Given the description of an element on the screen output the (x, y) to click on. 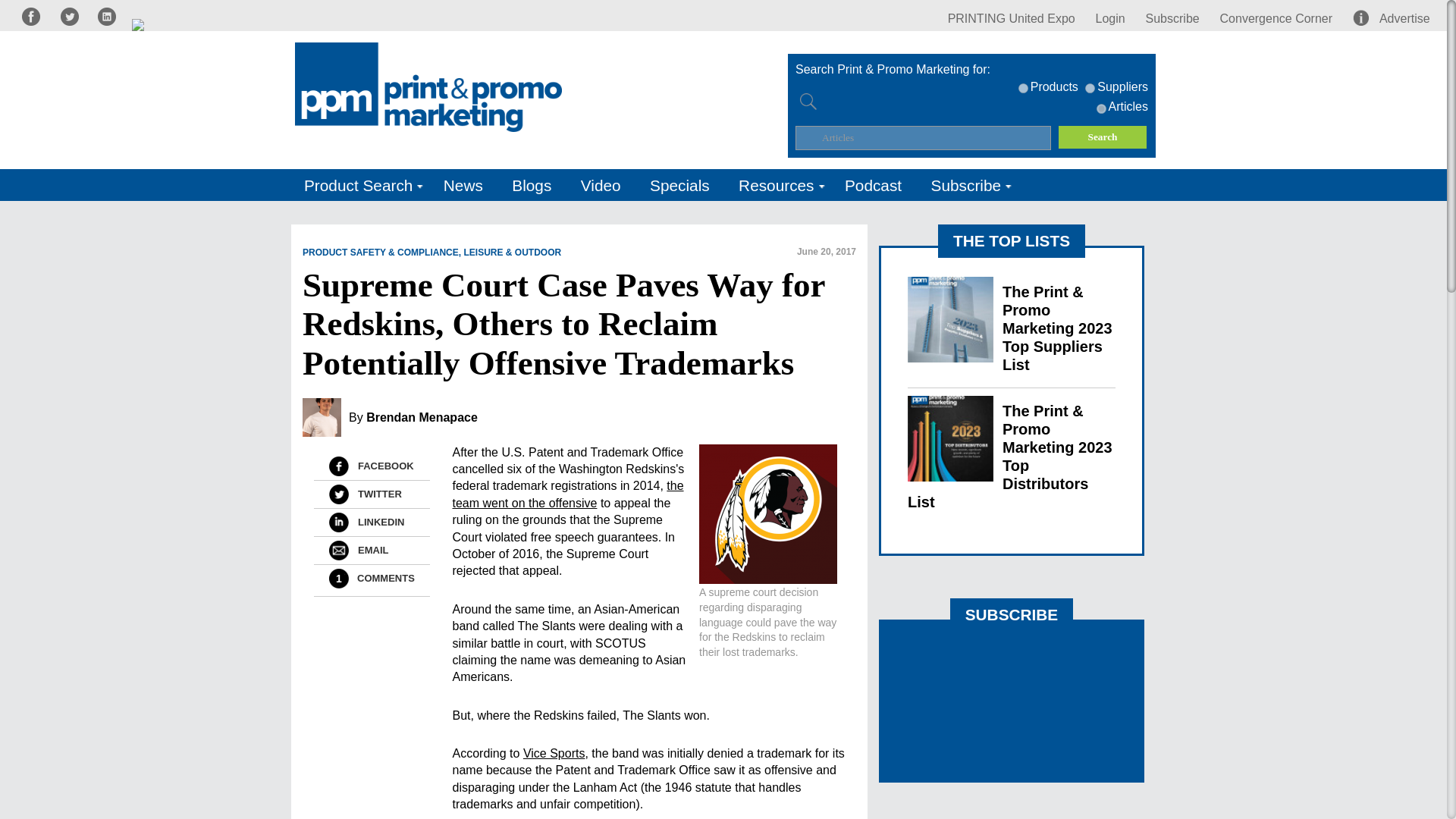
PRINTING United Expo (1011, 18)
Twitter (339, 494)
Search (1102, 137)
editorial (1101, 108)
Subscribe (1172, 18)
Search (1102, 137)
Login (1110, 18)
Product Search (359, 185)
Convergence Corner (1276, 18)
Facebook (339, 465)
